Given the description of an element on the screen output the (x, y) to click on. 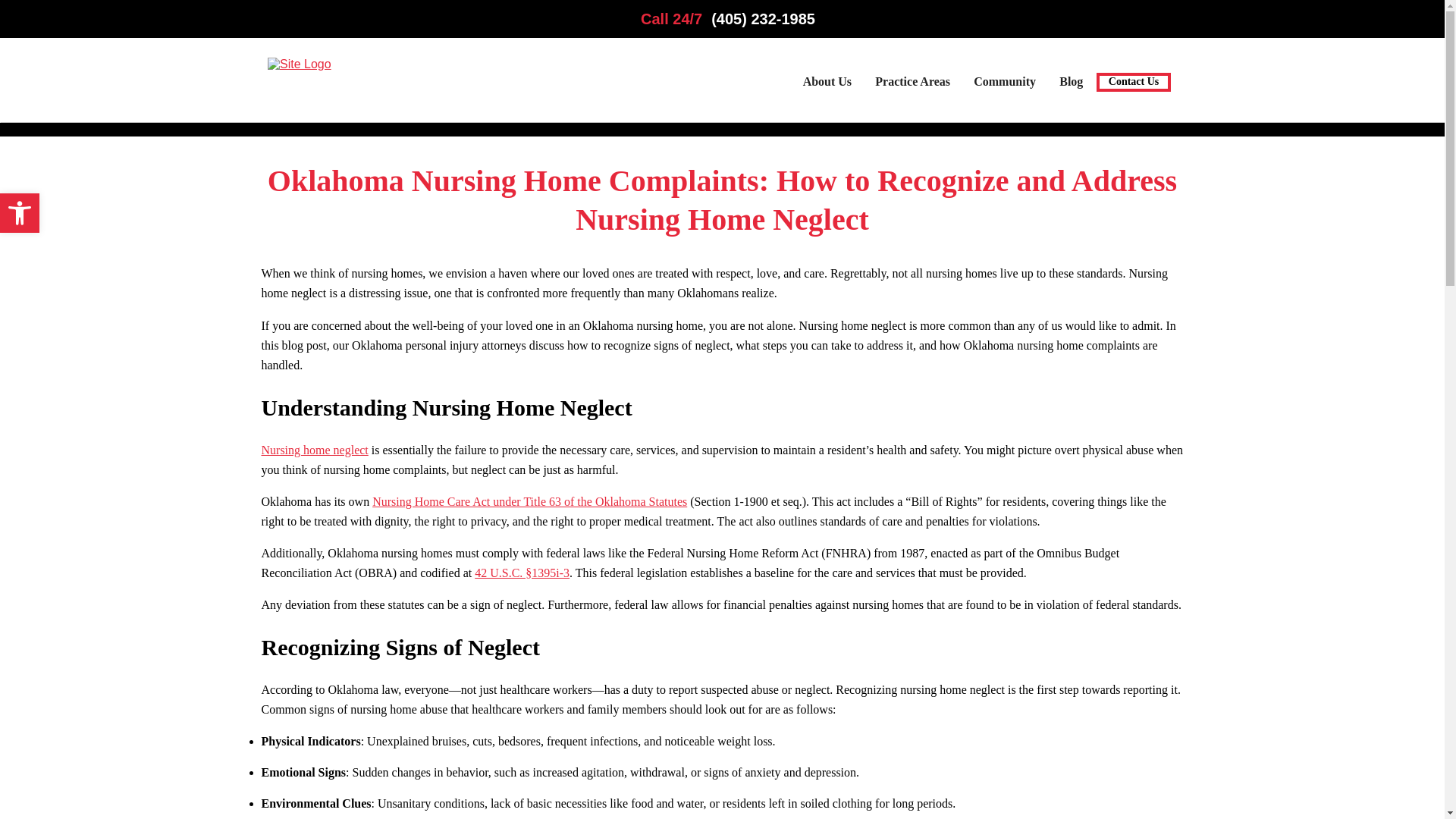
Community (1004, 81)
Blog (1071, 81)
About Us (827, 81)
Nursing home neglect (314, 449)
Accessibility Tools (19, 212)
Practice Areas (912, 81)
Accessibility Tools (19, 212)
Contact Us (1133, 81)
